Given the description of an element on the screen output the (x, y) to click on. 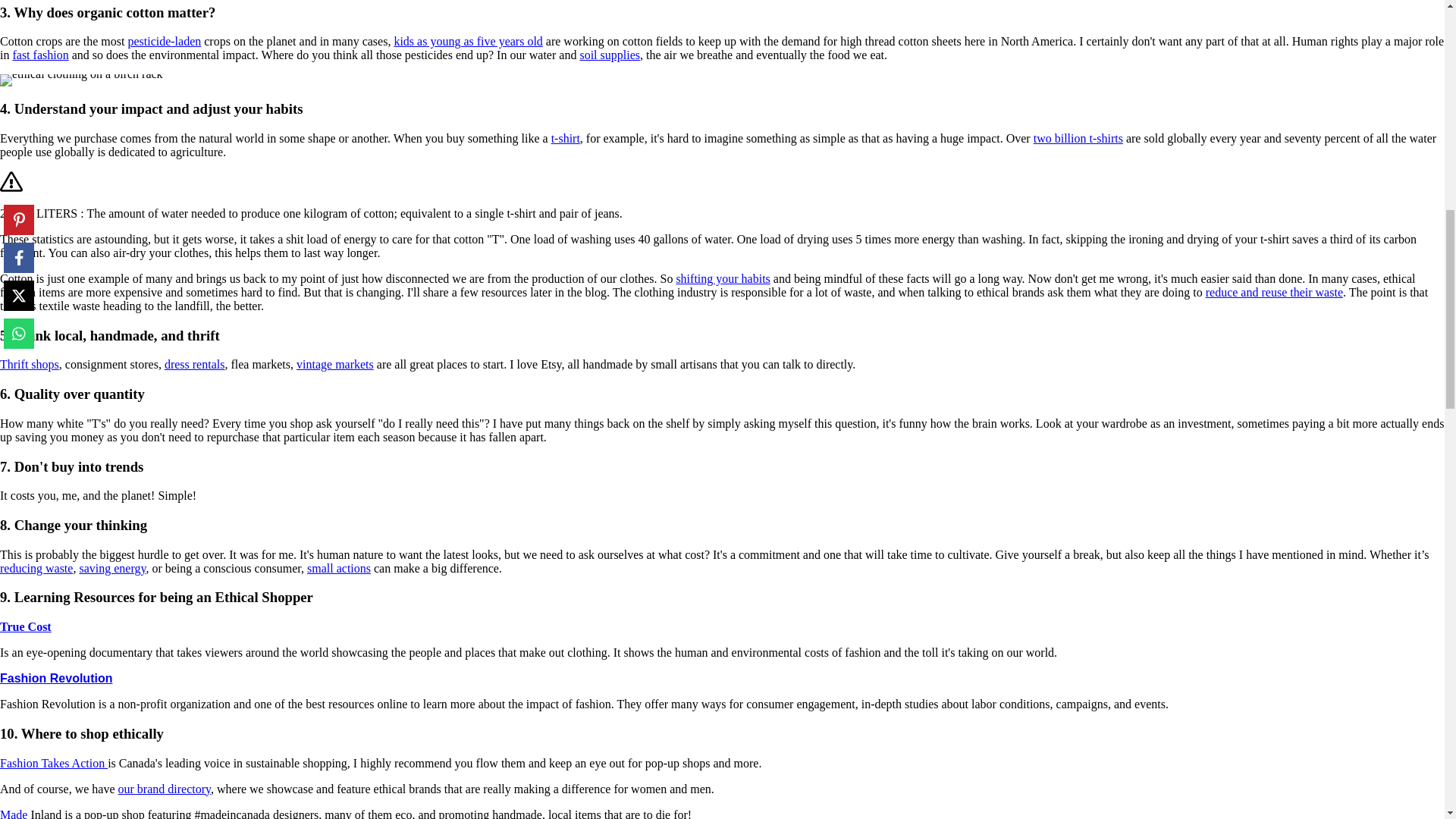
pesticide-laden (164, 41)
